Given the description of an element on the screen output the (x, y) to click on. 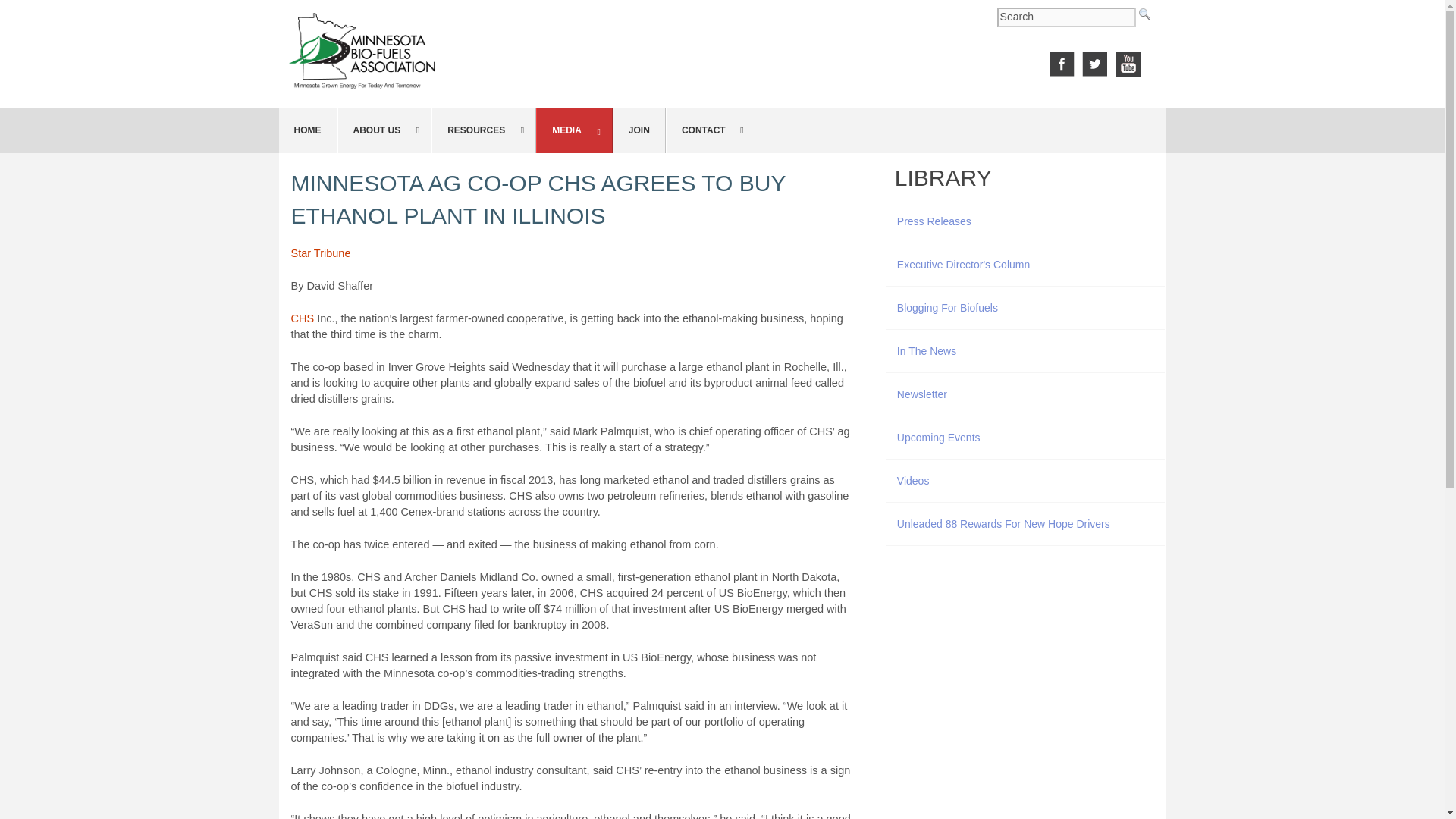
Follow MN Bio-Fuels Association on Facebook! (1061, 62)
MEDIA (573, 130)
RESOURCES (482, 130)
ABOUT US (383, 130)
Visit our YouTube channel (1128, 62)
Follow MN Bio-Fuels Association on Twitter! (1095, 62)
Search (1066, 17)
HOME (308, 130)
